Given the description of an element on the screen output the (x, y) to click on. 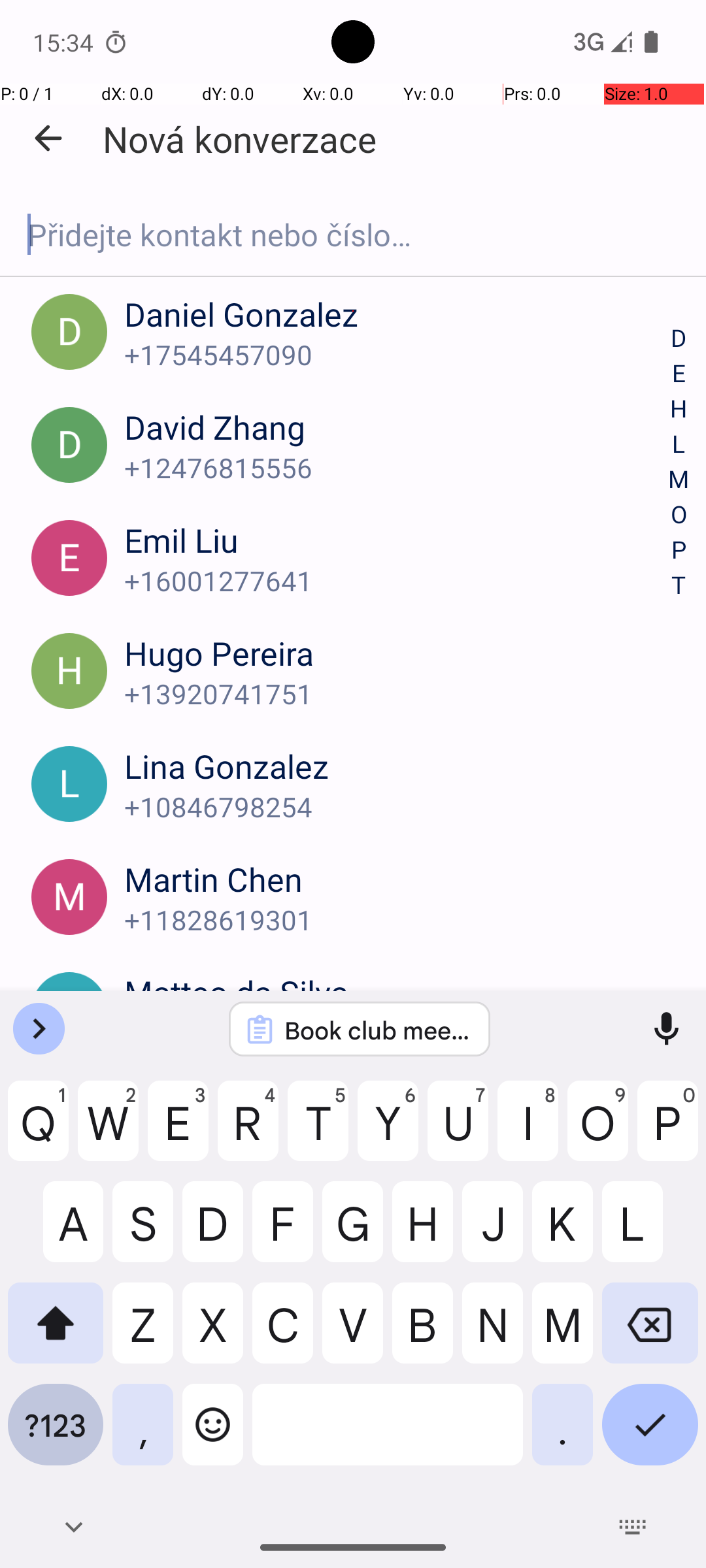
Zpět Element type: android.widget.ImageButton (48, 138)
Nová konverzace Element type: android.widget.TextView (239, 138)
Přidejte kontakt nebo číslo… Element type: android.widget.EditText (352, 234)
D
E
H
L
M
O
P
T Element type: android.widget.TextView (678, 462)
Daniel Gonzalez Element type: android.widget.TextView (397, 313)
+17545457090 Element type: android.widget.TextView (397, 354)
David Zhang Element type: android.widget.TextView (397, 426)
+12476815556 Element type: android.widget.TextView (397, 467)
+16001277641 Element type: android.widget.TextView (397, 580)
+13920741751 Element type: android.widget.TextView (397, 693)
Lina Gonzalez Element type: android.widget.TextView (397, 765)
+10846798254 Element type: android.widget.TextView (397, 806)
Martin Chen Element type: android.widget.TextView (397, 878)
+11828619301 Element type: android.widget.TextView (397, 919)
Matteo da Silva Element type: android.widget.TextView (397, 991)
